Given the description of an element on the screen output the (x, y) to click on. 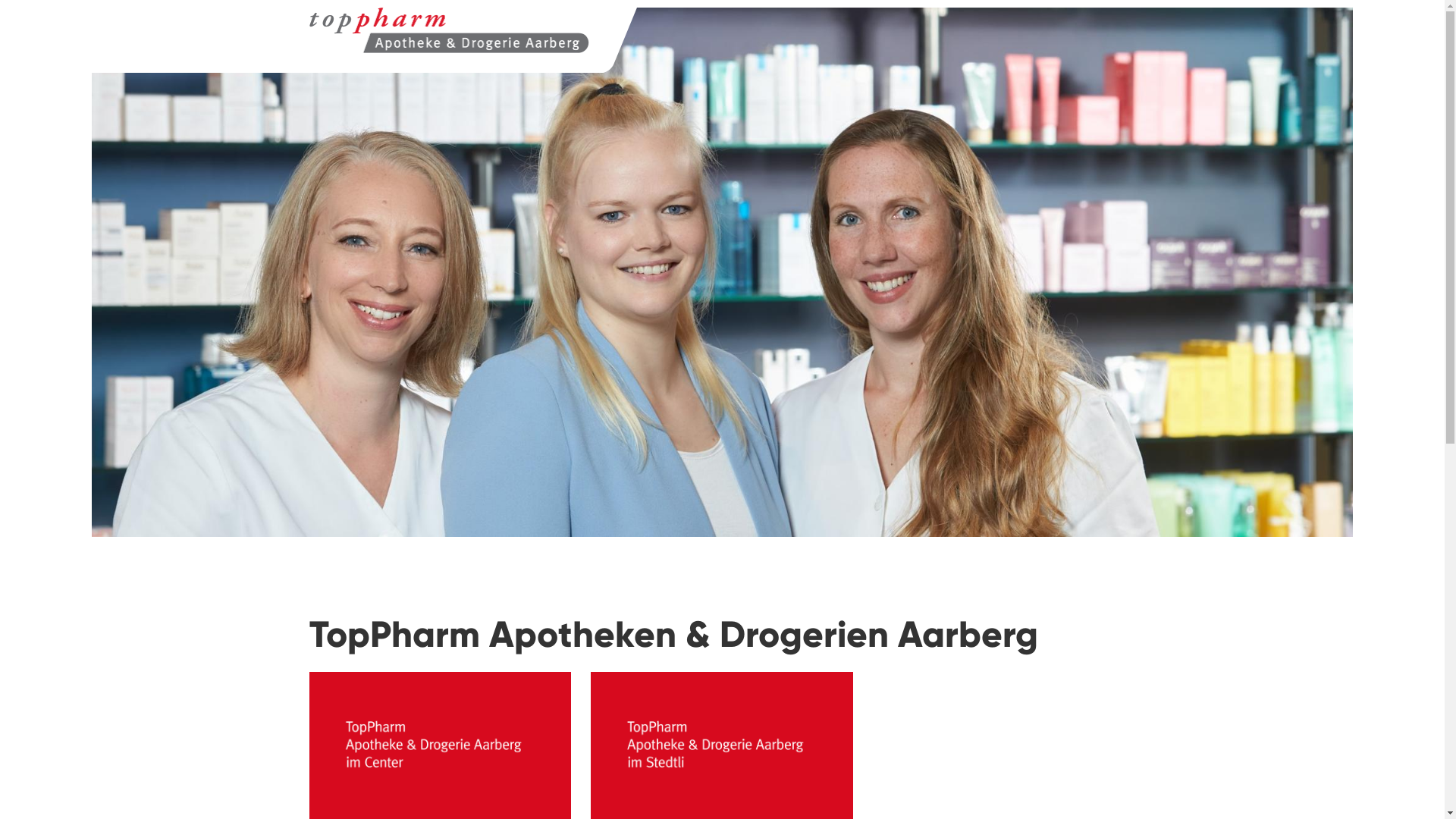
TopPharm Apotheke & Drogerie Aarberg - Stedtli Element type: hover (449, 30)
TopPharm Apotheke & Drogerie Aarberg - Stedtli Element type: text (295, 39)
